Given the description of an element on the screen output the (x, y) to click on. 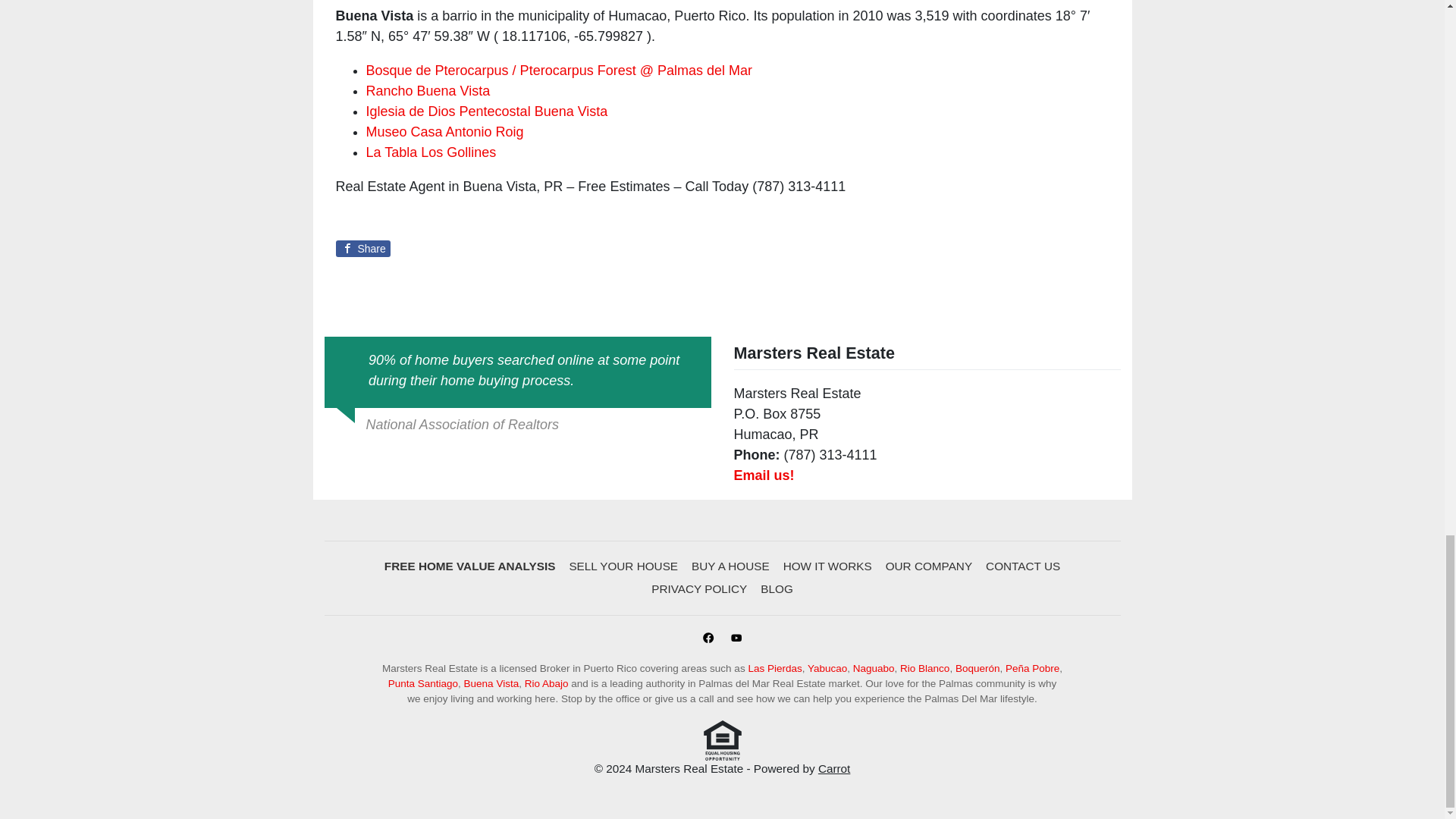
La Tabla Los Gollines (430, 151)
Facebook (707, 638)
Rancho Buena Vista (427, 90)
BUY A HOUSE (730, 566)
HOW IT WORKS (827, 566)
BLOG (776, 589)
Share on Facebook (362, 248)
PRIVACY POLICY (699, 589)
FREE HOME VALUE ANALYSIS (469, 566)
Email us! (763, 475)
SELL YOUR HOUSE (623, 566)
Yabucao (827, 668)
Iglesia de Dios Pentecostal Buena Vista (486, 111)
Museo Casa Antonio Roig (443, 131)
Las Pierdas (775, 668)
